Given the description of an element on the screen output the (x, y) to click on. 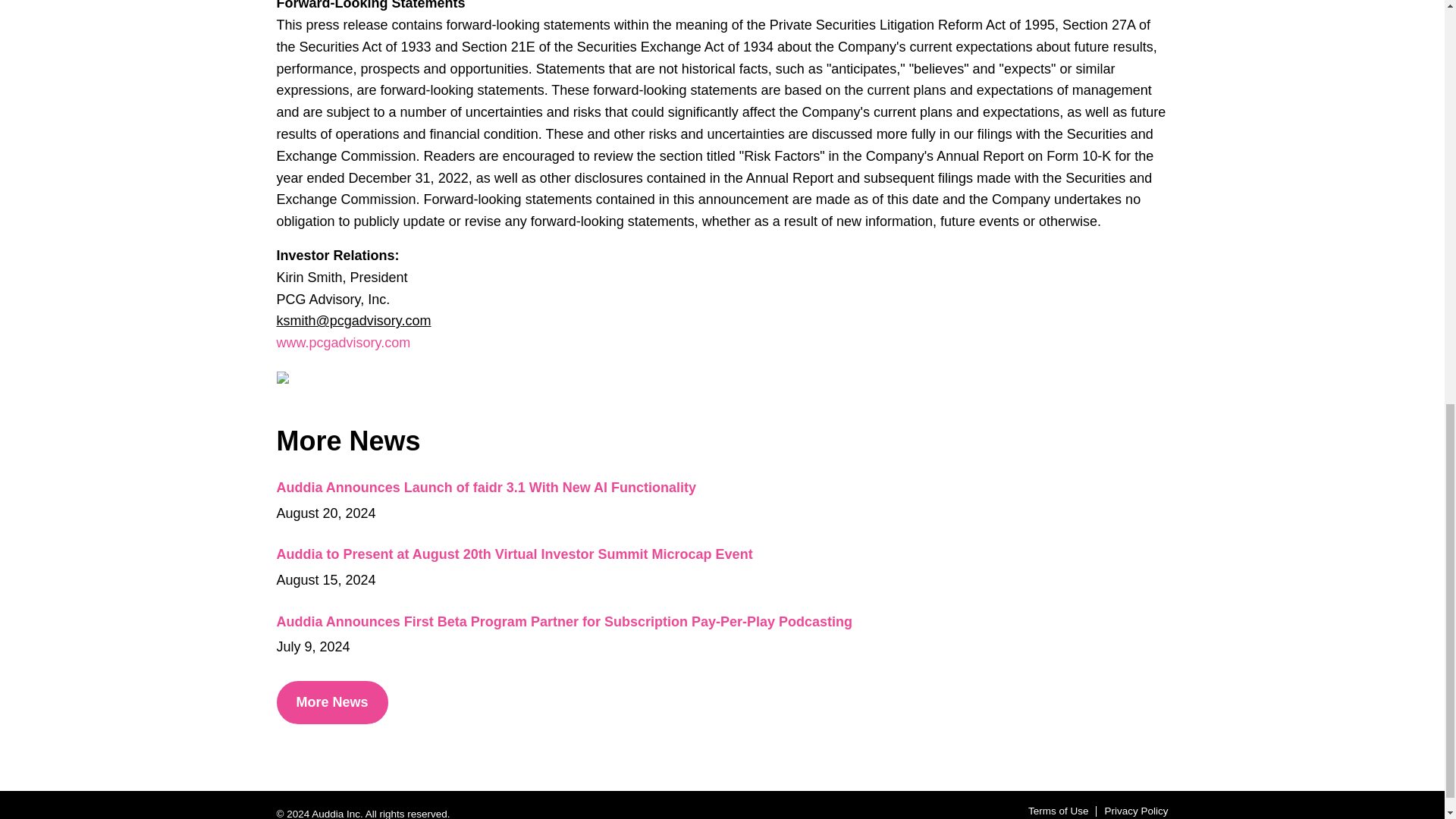
Privacy Policy (1135, 810)
More News (331, 701)
www.pcgadvisory.com (343, 342)
Terms of Use (1058, 810)
